Given the description of an element on the screen output the (x, y) to click on. 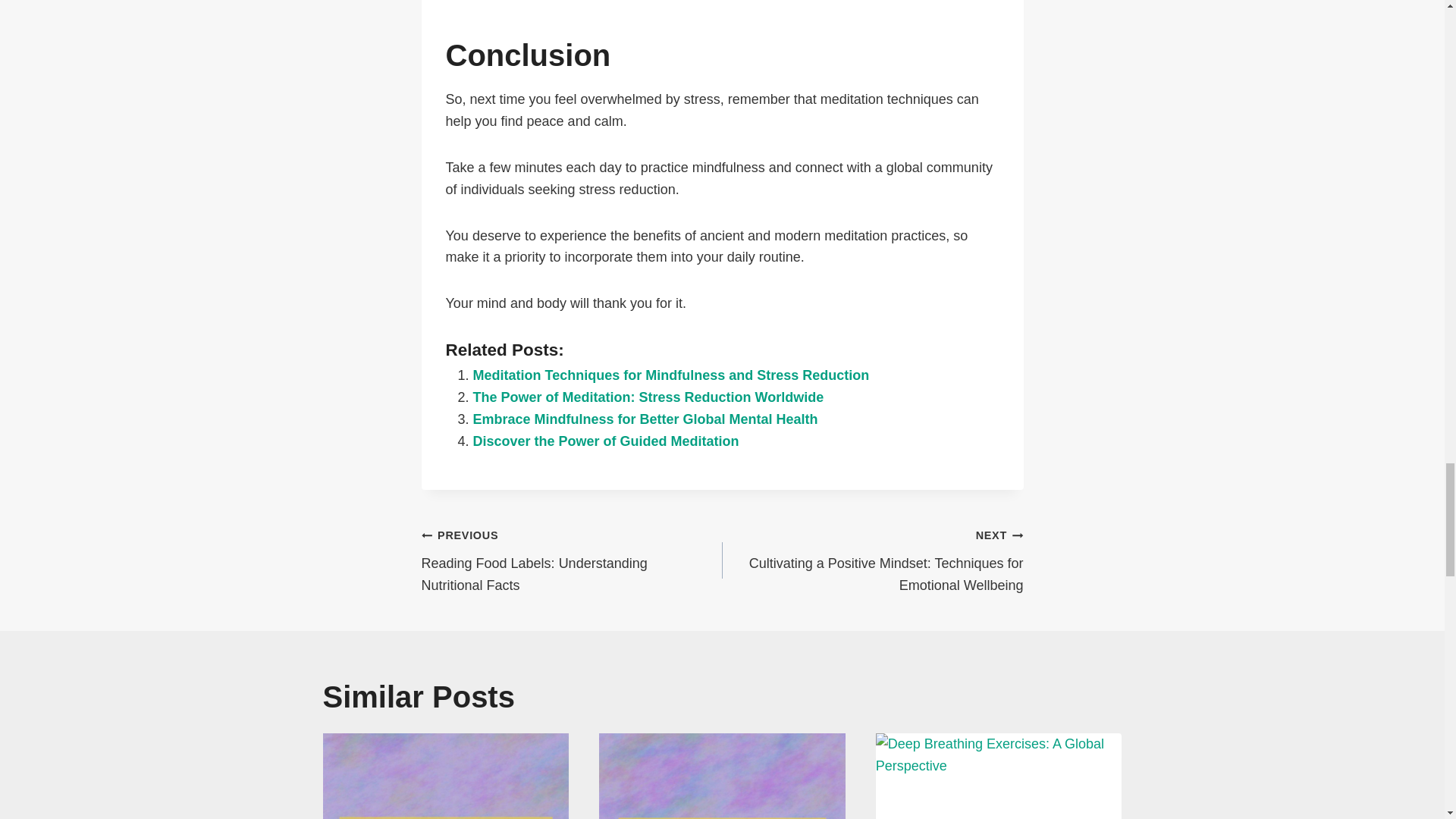
Discover the Power of Guided Meditation (606, 441)
Meditation Techniques for Mindfulness and Stress Reduction (671, 375)
Discover the Power of Guided Meditation (606, 441)
The Power of Meditation: Stress Reduction Worldwide (648, 396)
Embrace Mindfulness for Better Global Mental Health (645, 418)
Meditation Techniques for Mindfulness and Stress Reduction (671, 375)
Embrace Mindfulness for Better Global Mental Health (645, 418)
The Power of Meditation: Stress Reduction Worldwide (648, 396)
